Given the description of an element on the screen output the (x, y) to click on. 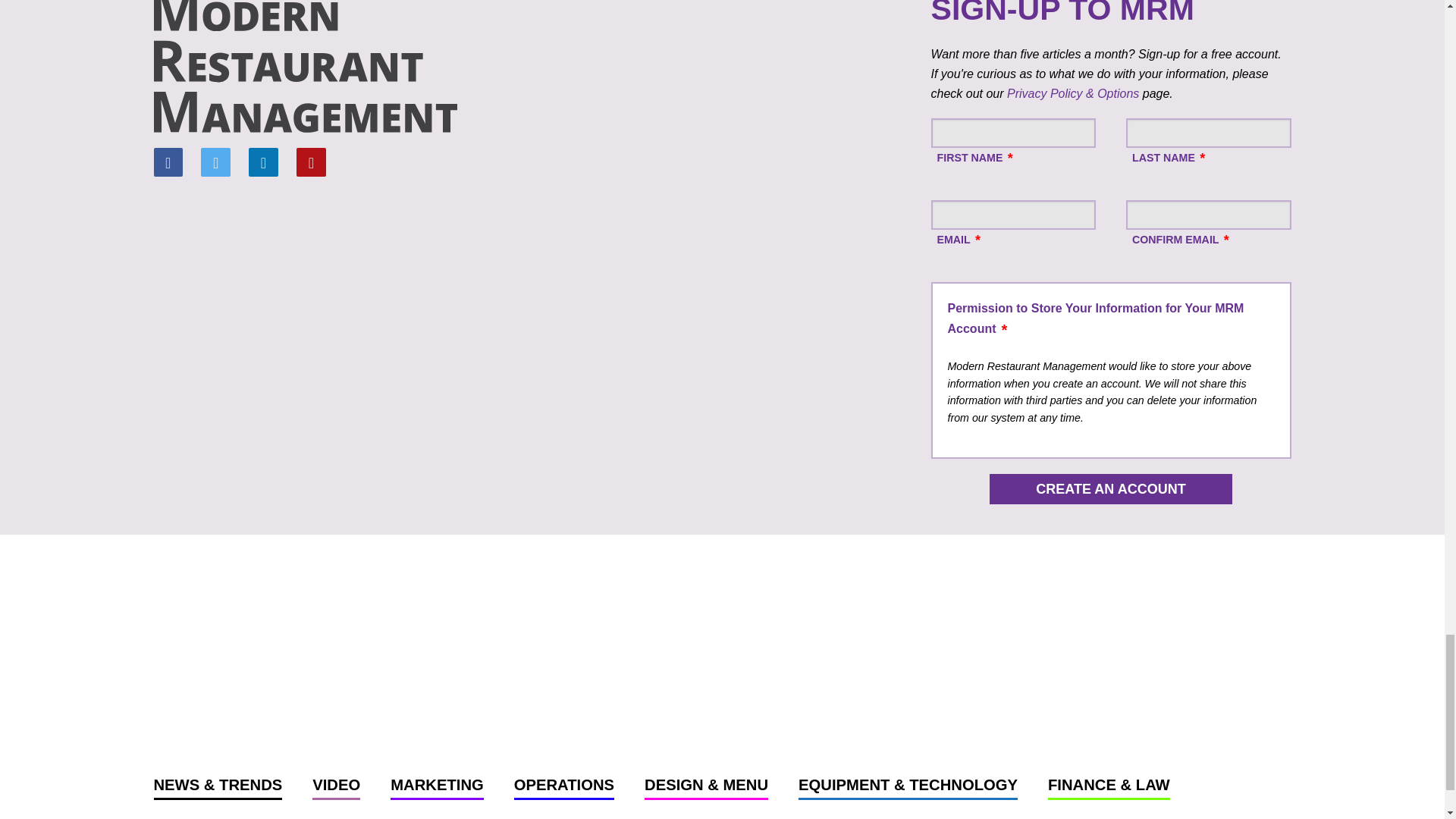
VIDEO (336, 788)
Create an Account (1110, 489)
MARKETING (436, 788)
Youtube (310, 162)
Twitter (215, 162)
Create an Account (1110, 489)
OPERATIONS (563, 788)
Linkedin (263, 162)
Facebook (167, 162)
